Given the description of an element on the screen output the (x, y) to click on. 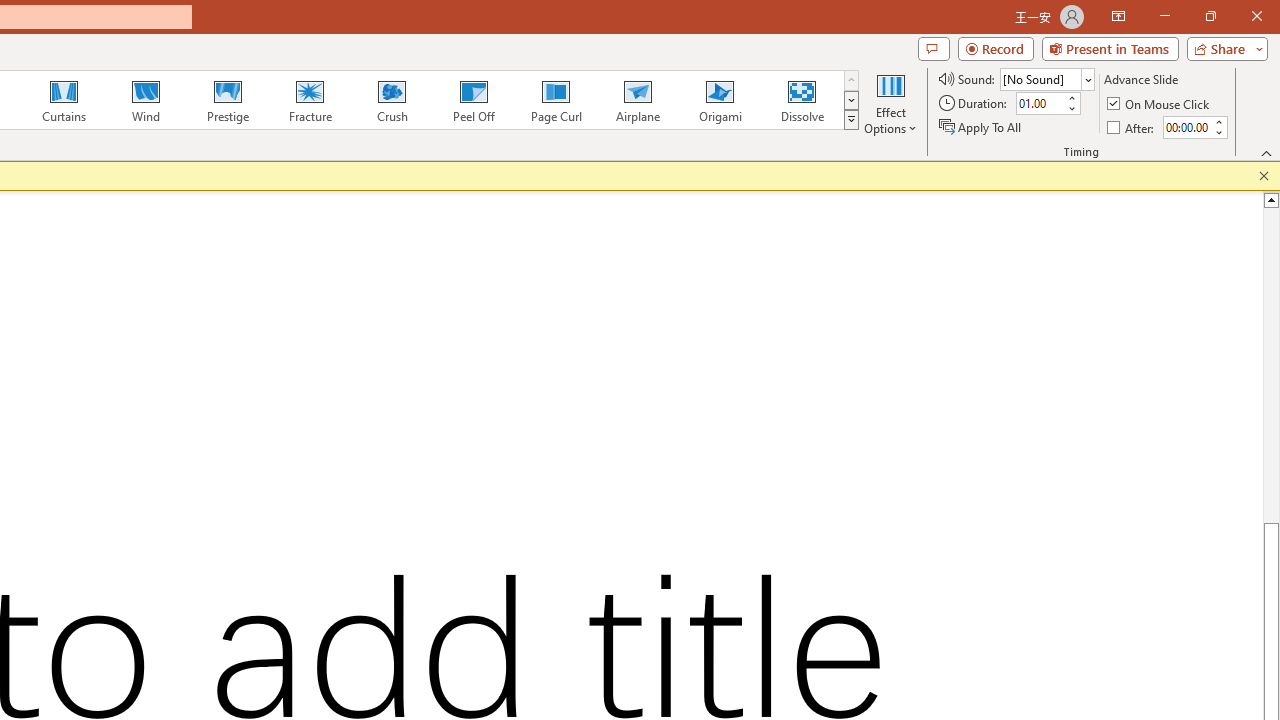
Duration (1039, 103)
Transition Effects (850, 120)
